Given the description of an element on the screen output the (x, y) to click on. 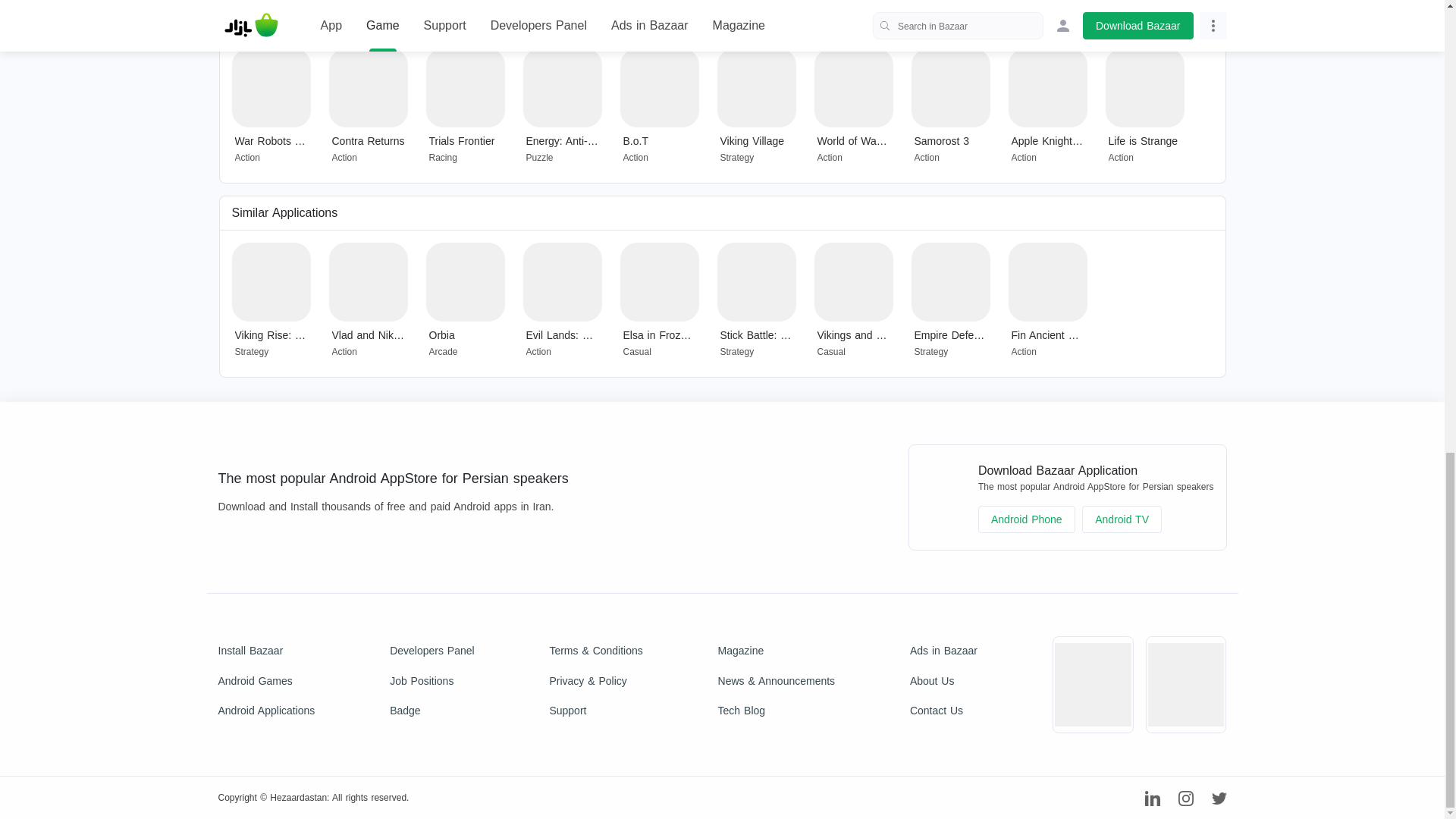
Android Games (266, 681)
Install Bazaar (266, 650)
